Given the description of an element on the screen output the (x, y) to click on. 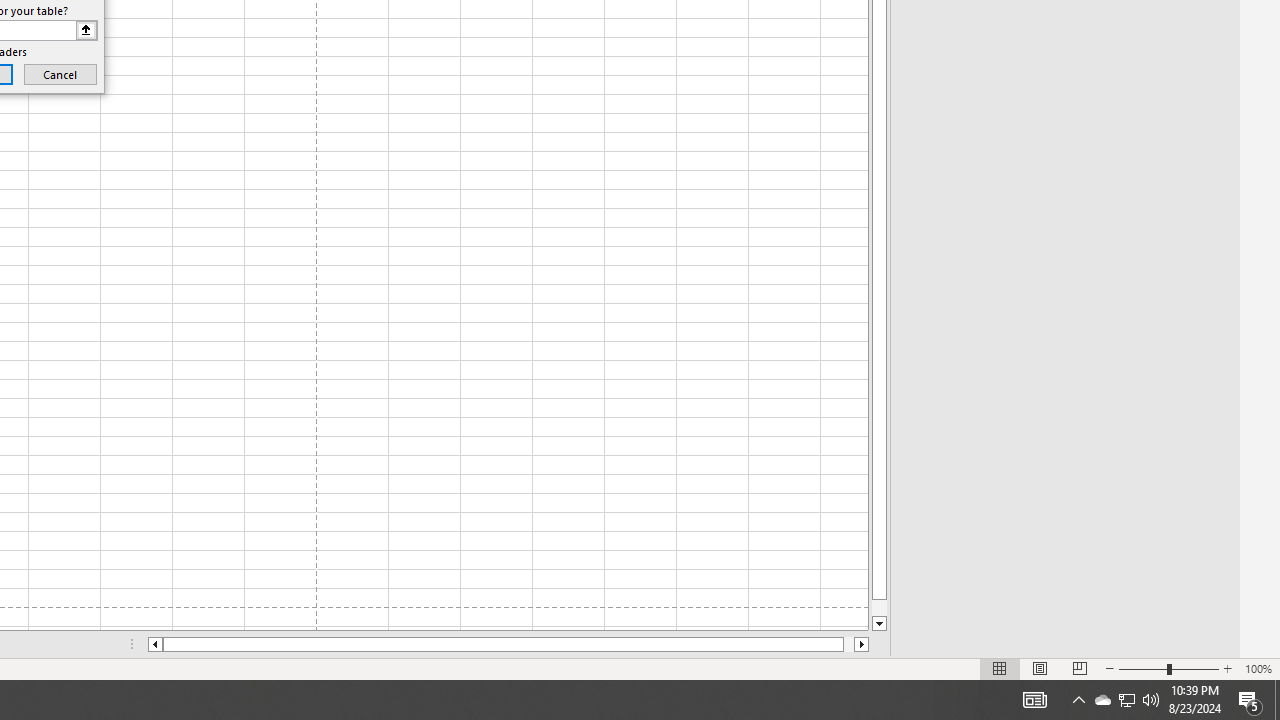
Page right (848, 644)
Page down (879, 607)
